Given the description of an element on the screen output the (x, y) to click on. 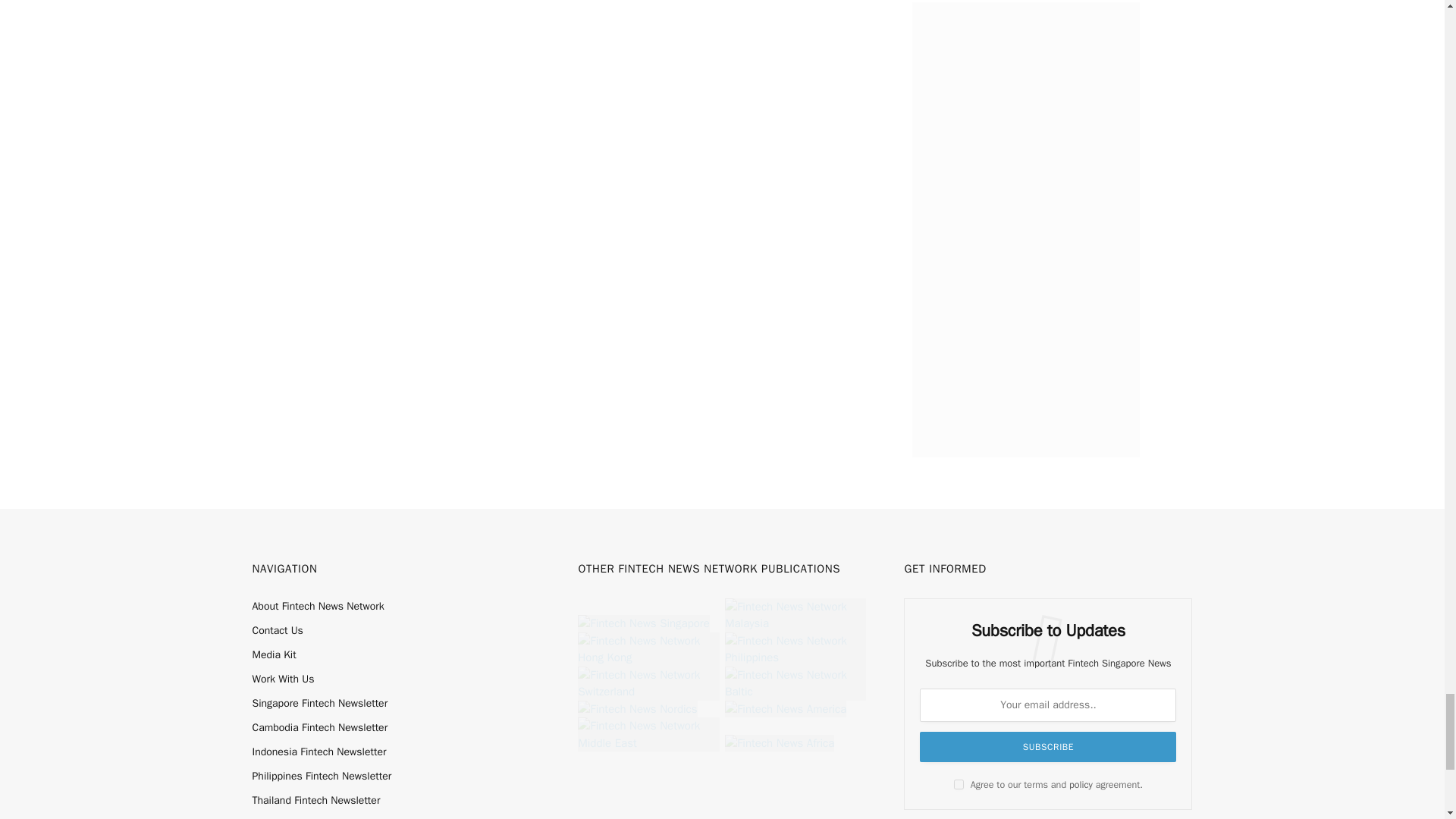
on (958, 784)
Subscribe (1048, 747)
